Given the description of an element on the screen output the (x, y) to click on. 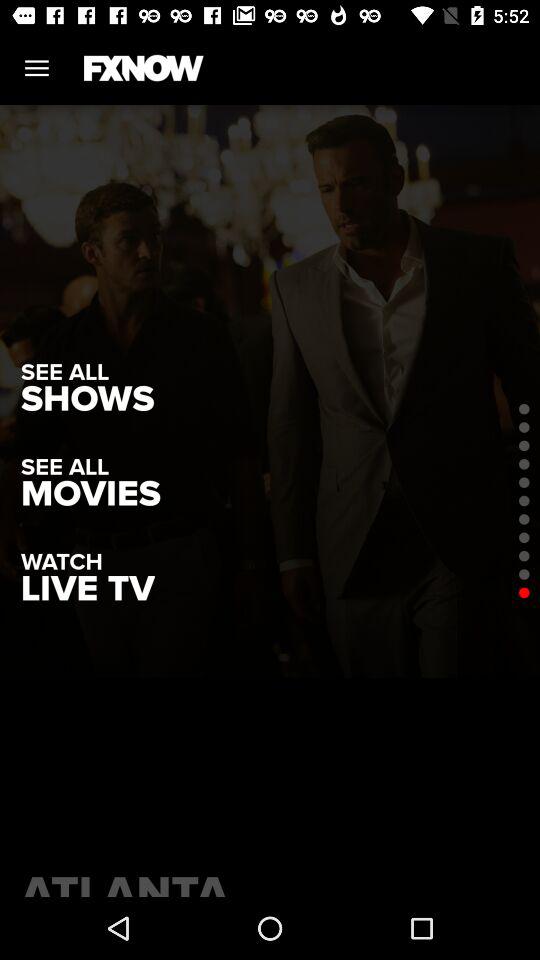
scroll until atlanta  item (270, 880)
